Given the description of an element on the screen output the (x, y) to click on. 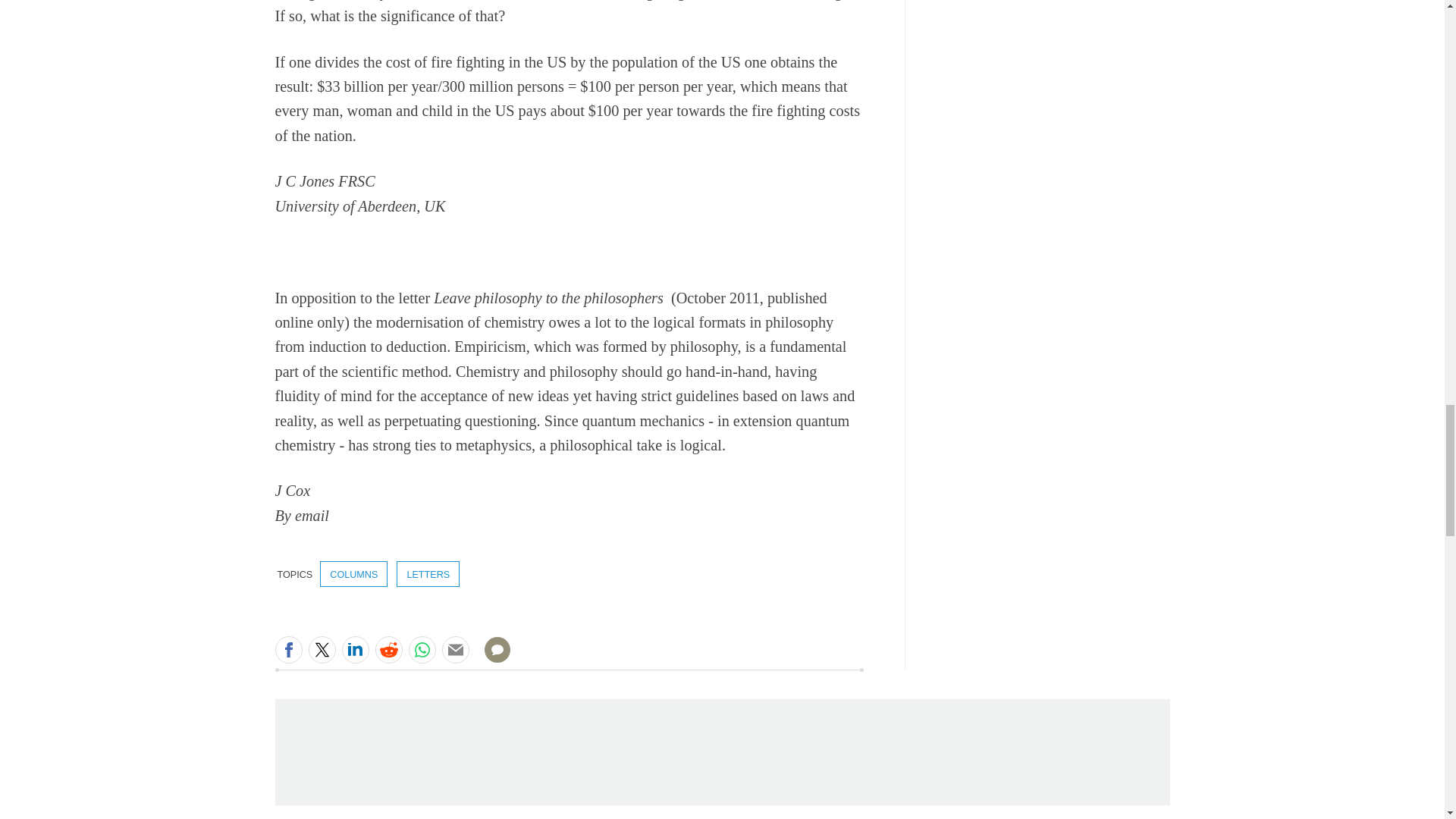
Share this on WhatsApp (421, 649)
NO COMMENTS (492, 658)
Share this on Facebook (288, 649)
Share this on Reddit (387, 649)
Share this on LinkedIn (354, 649)
Share this by email (454, 649)
